Given the description of an element on the screen output the (x, y) to click on. 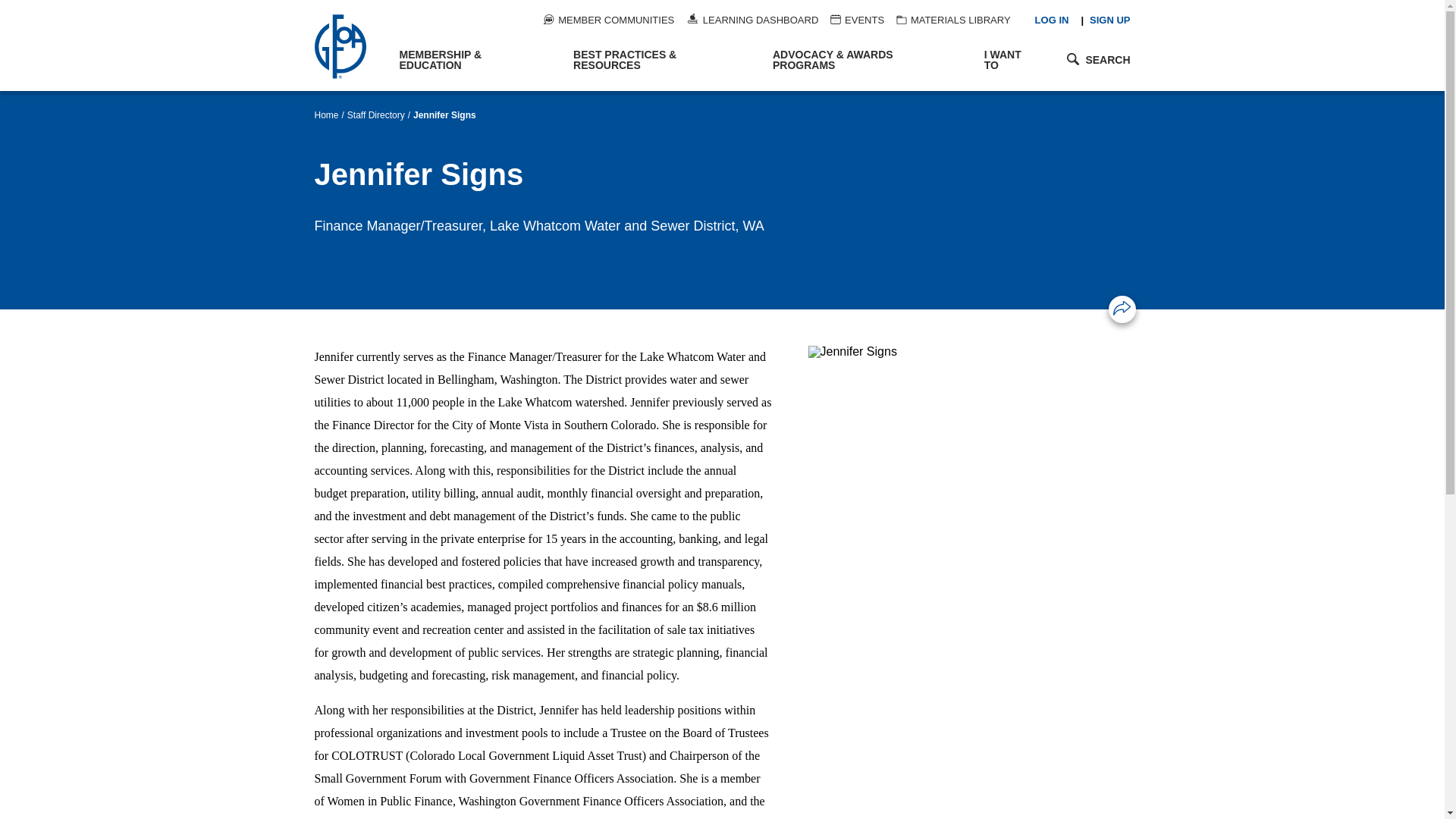
MEMBER COMMUNITIES (608, 19)
MATERIALS LIBRARY (953, 19)
LEARNING DASHBOARD (751, 19)
Home (349, 45)
Share this page (1122, 308)
EVENTS (856, 19)
SIGN UP (1109, 19)
LOG IN (1051, 19)
